Given the description of an element on the screen output the (x, y) to click on. 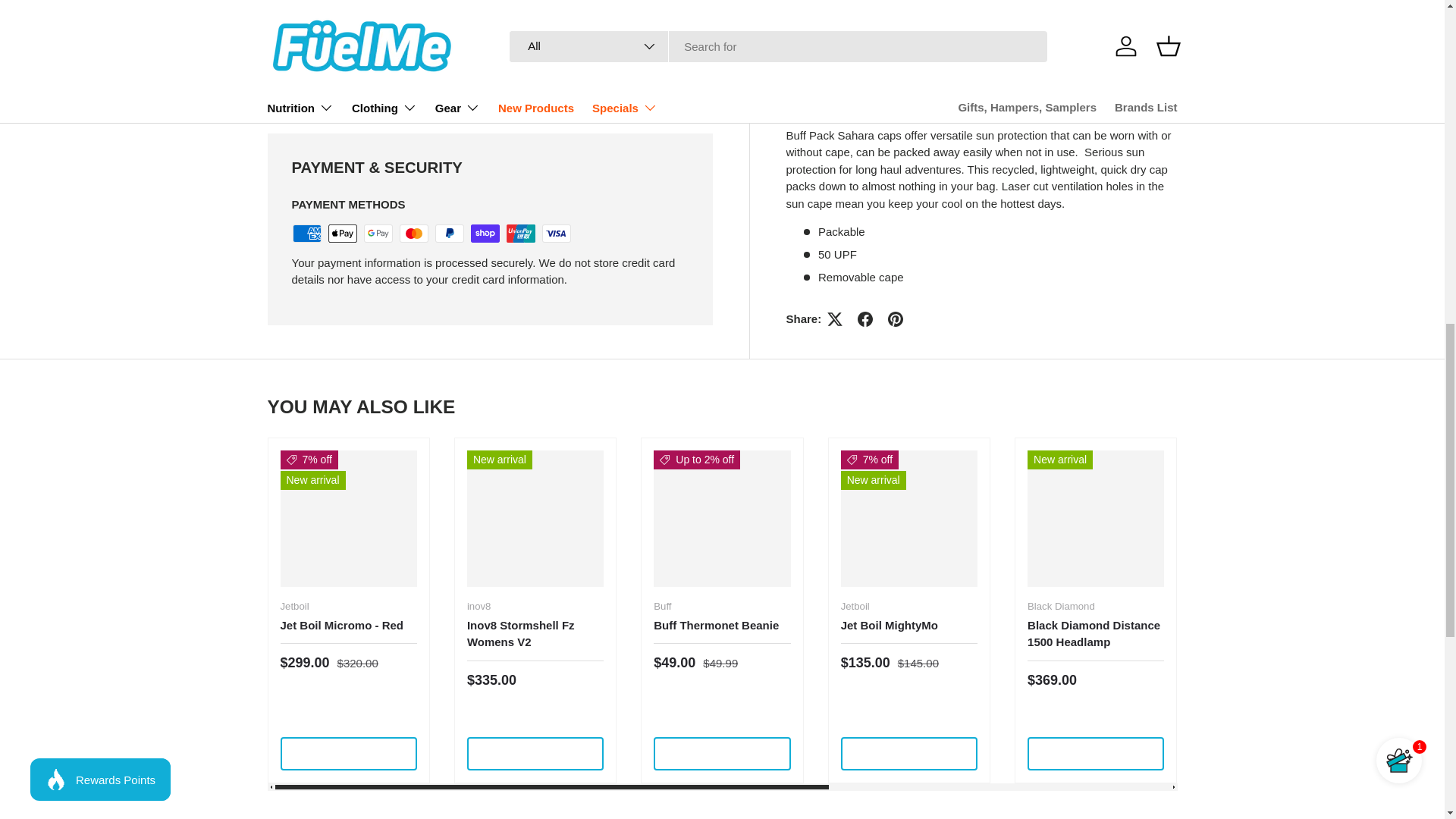
Share on Facebook (865, 3)
Pin on Pinterest (895, 3)
Tweet on X (834, 3)
